Given the description of an element on the screen output the (x, y) to click on. 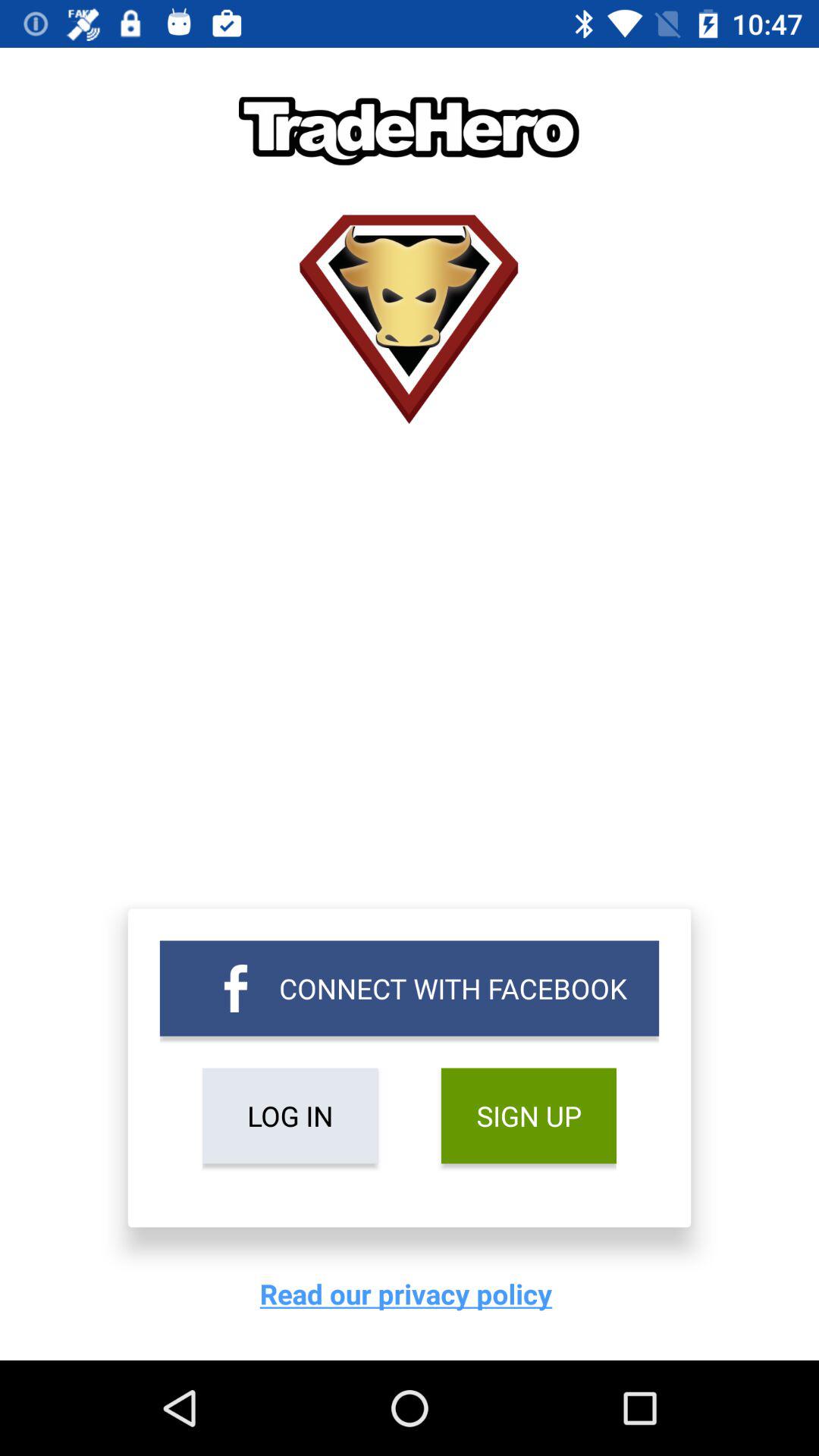
select icon below connect with facebook item (289, 1115)
